Given the description of an element on the screen output the (x, y) to click on. 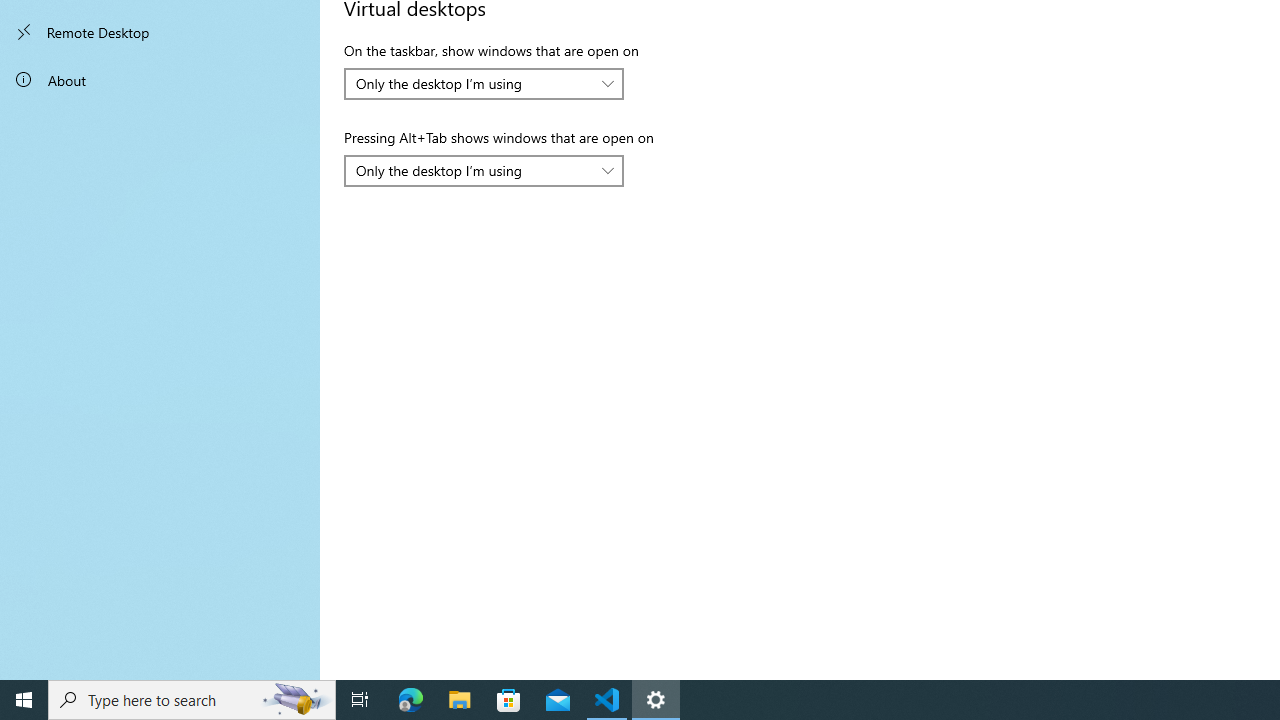
Remote Desktop (160, 31)
Pressing Alt+Tab shows windows that are open on (484, 170)
On the taskbar, show windows that are open on (484, 83)
About (160, 79)
